Given the description of an element on the screen output the (x, y) to click on. 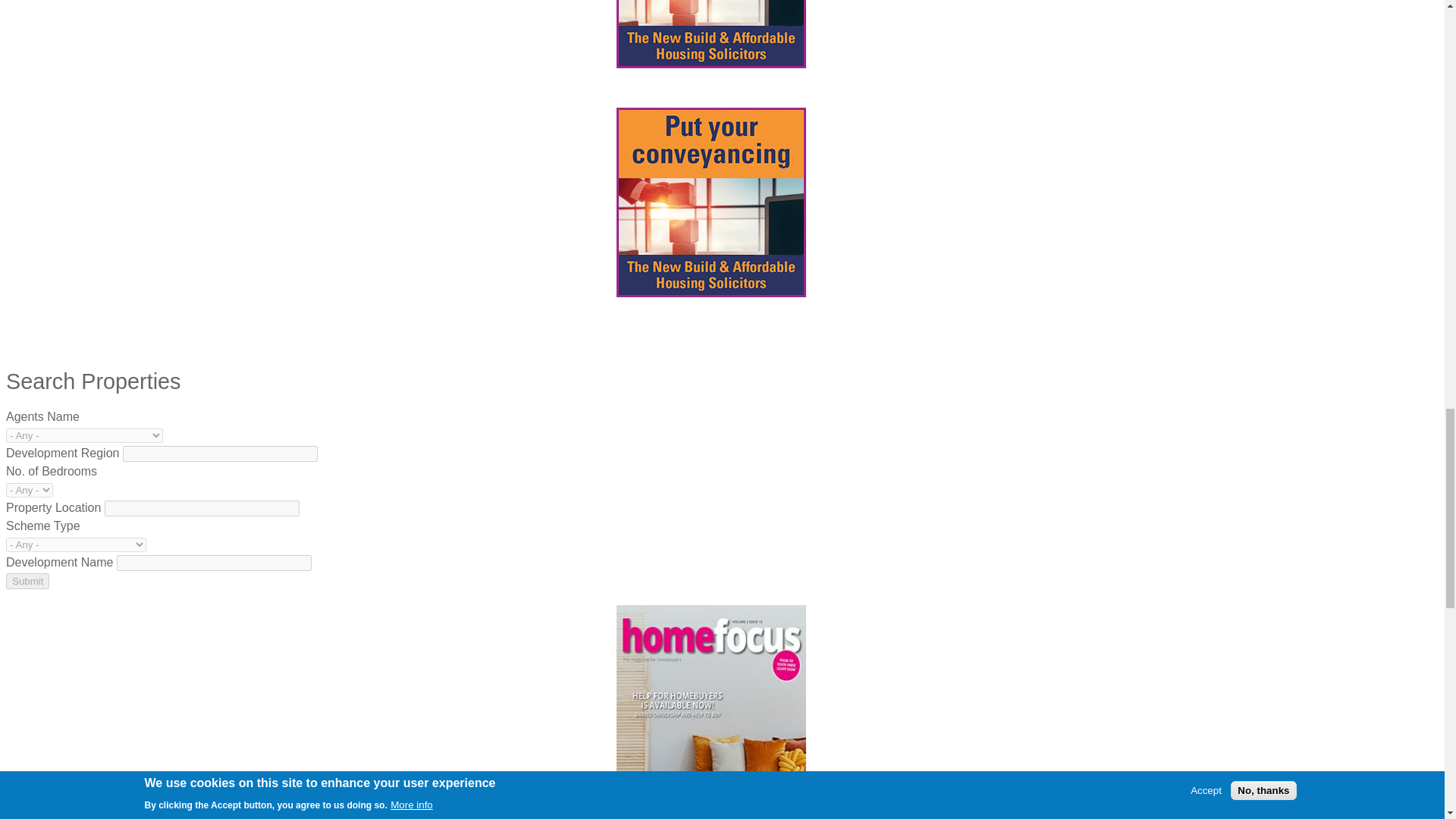
Direction Law (710, 33)
Submit (27, 580)
Direction Law (710, 202)
